Given the description of an element on the screen output the (x, y) to click on. 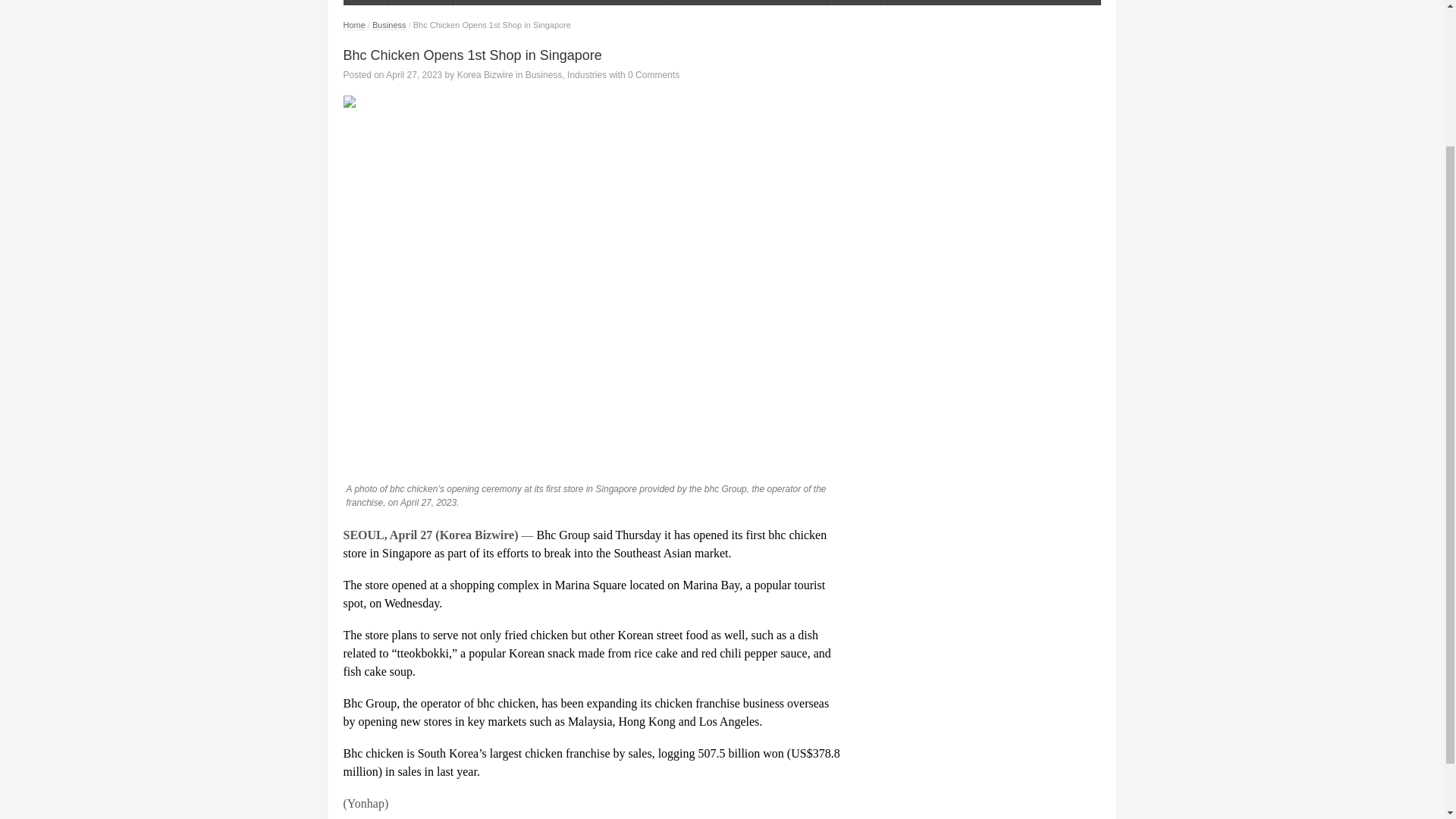
National (422, 2)
View all posts by Korea Bizwire (485, 74)
Business (489, 2)
View all posts in Business (389, 25)
Home (366, 2)
Comment on Bhc Chicken Opens 1st Shop in Singapore (653, 74)
View all posts in Industries (587, 74)
View all posts in Business (543, 74)
2:12 am (413, 74)
Print page (592, 101)
